Given the description of an element on the screen output the (x, y) to click on. 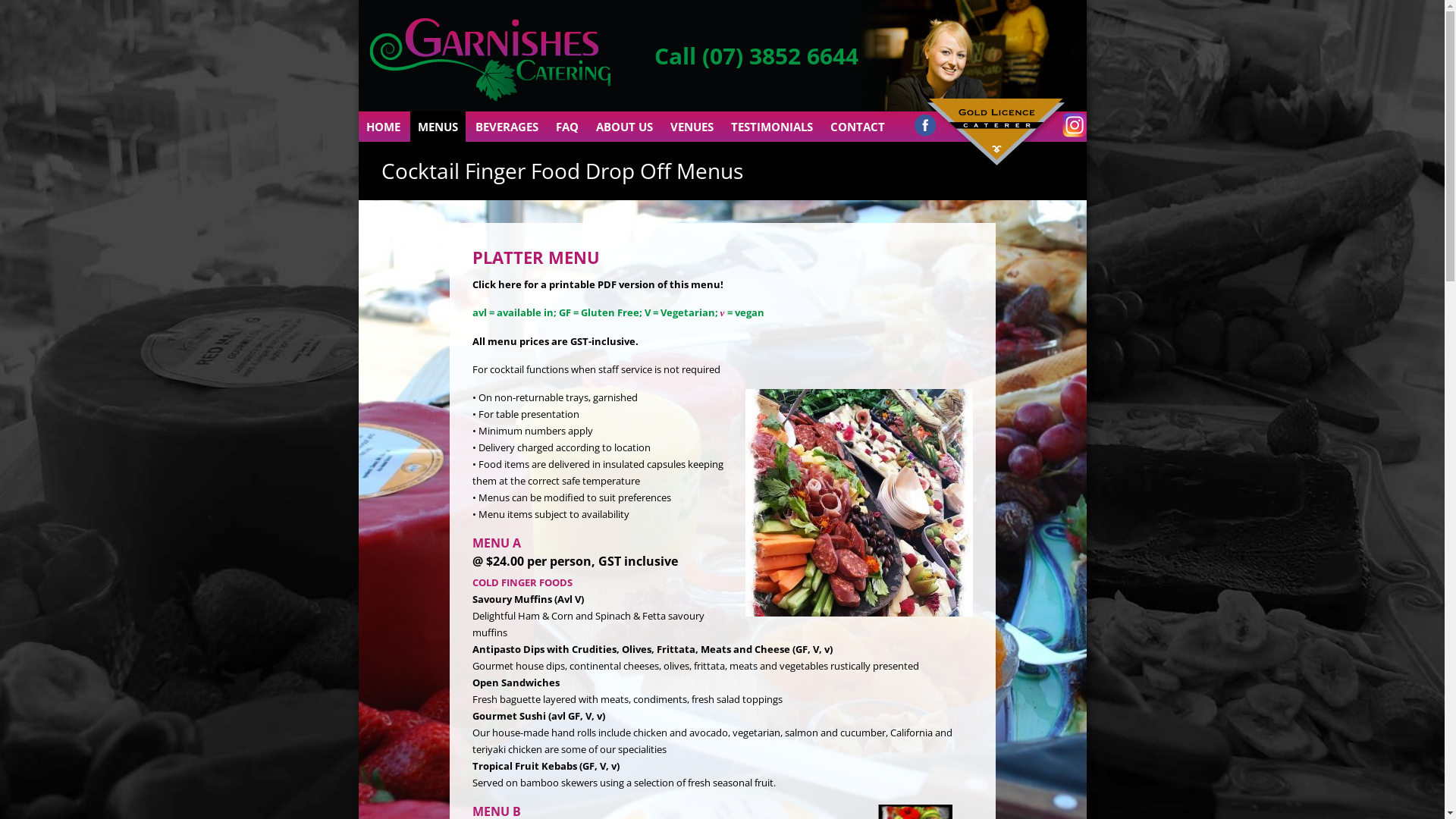
Call (07) 3852 6644 Element type: text (755, 55)
Click here for a printable PDF version of this menu!  Element type: text (597, 284)
VENUES Element type: text (691, 126)
MENUS Element type: text (436, 126)
FAQ Element type: text (566, 126)
BEVERAGES Element type: text (506, 126)
ABOUT US Element type: text (624, 126)
TESTIMONIALS Element type: text (771, 126)
Garnishes Catering Brisbane Element type: hover (497, 107)
HOME Element type: text (382, 126)
CONTACT Element type: text (856, 126)
